Given the description of an element on the screen output the (x, y) to click on. 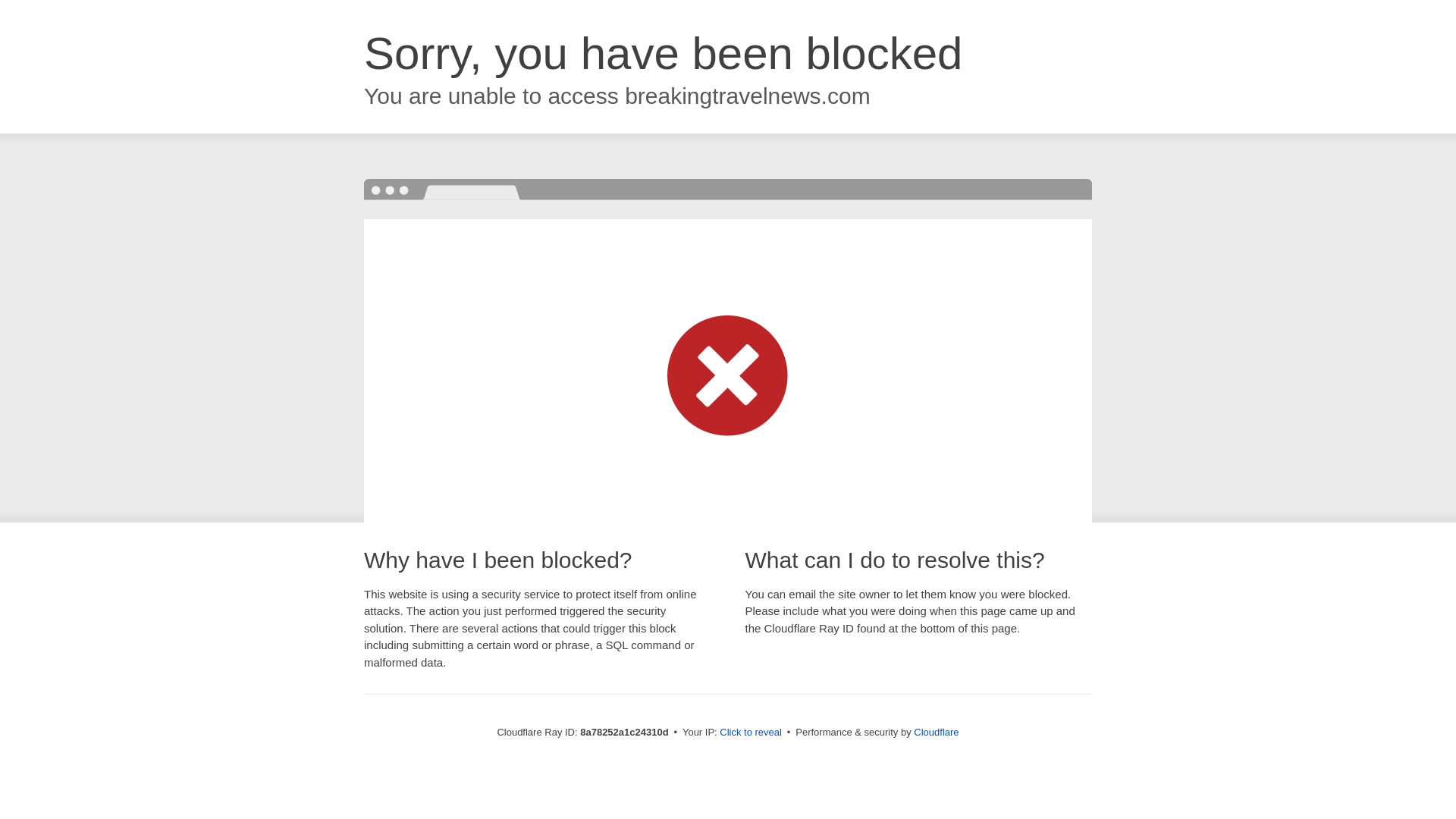
Click to reveal (750, 732)
Cloudflare (936, 731)
